Given the description of an element on the screen output the (x, y) to click on. 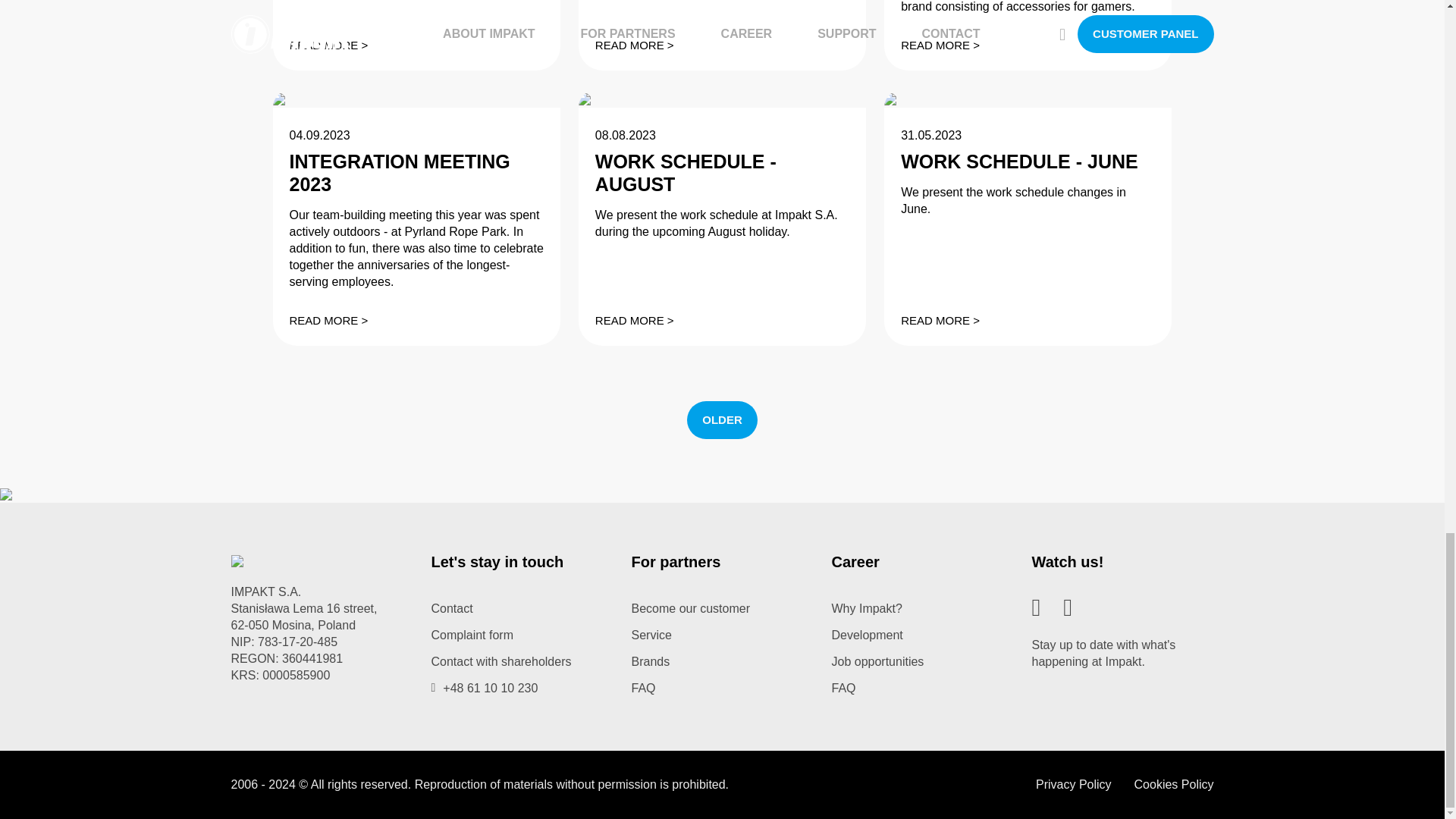
OLDER (722, 419)
Contact (450, 608)
